Given the description of an element on the screen output the (x, y) to click on. 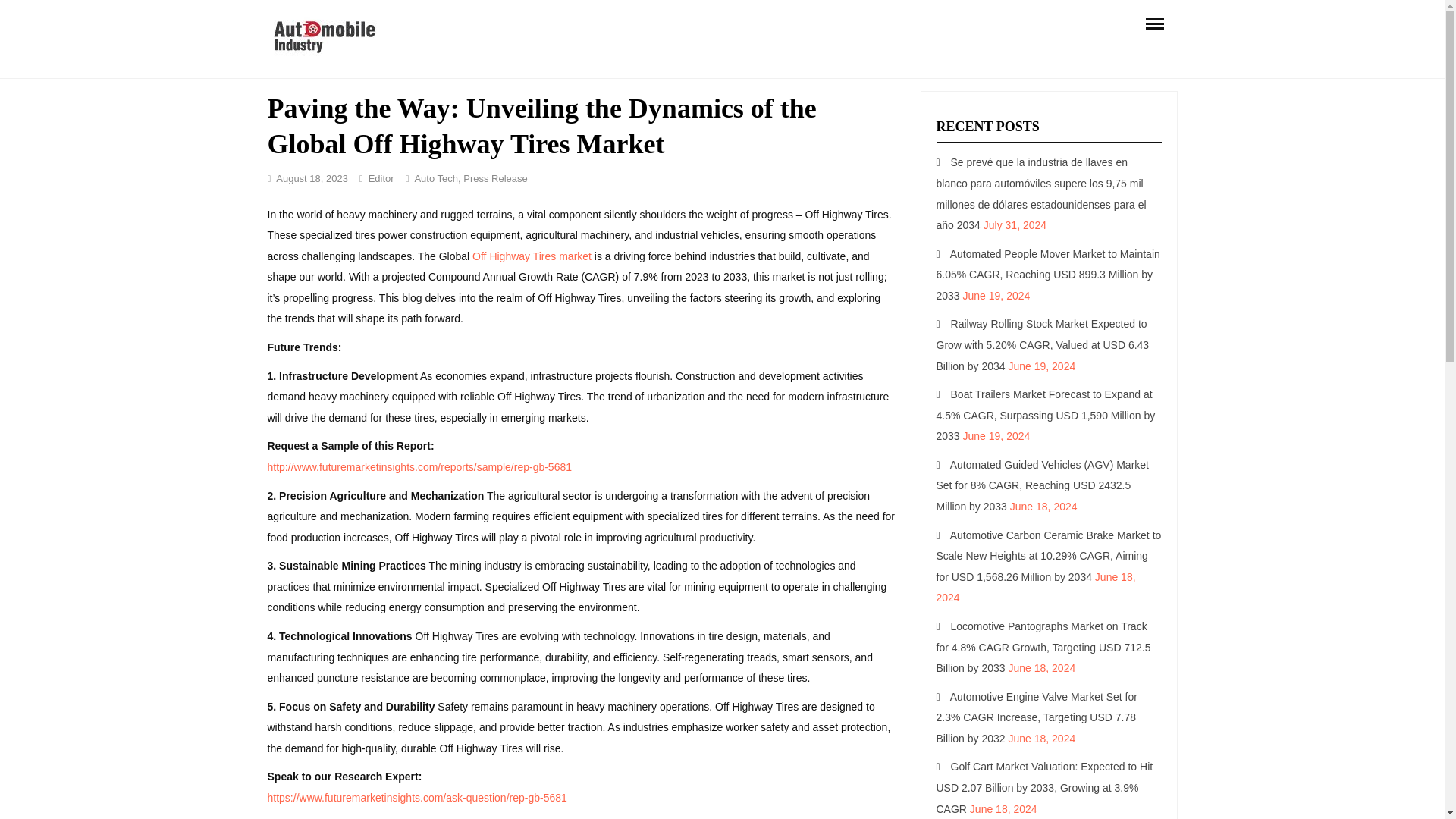
Menu (1153, 22)
Off Highway Tires market (531, 256)
Editor (381, 178)
August 18, 2023 (311, 178)
Press Release (495, 178)
Auto Tech (435, 178)
